Given the description of an element on the screen output the (x, y) to click on. 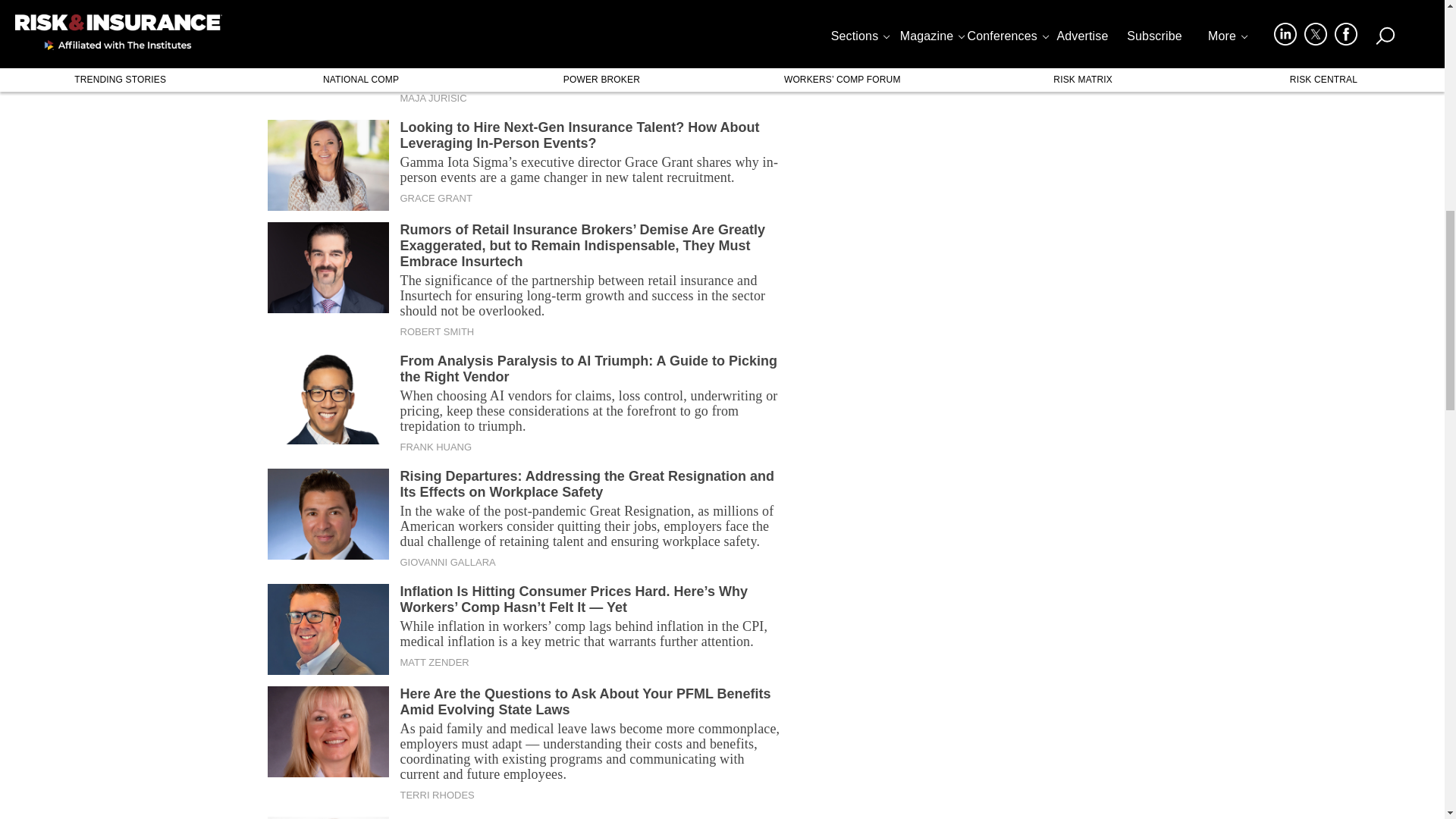
Posts by Maja Jurisic (433, 98)
Posts by Grace Grant (435, 198)
Posts by Terri Rhodes (437, 795)
Posts by Matt Zender (434, 662)
Posts by Giovanni Gallara (448, 562)
Posts by Frank Huang (435, 447)
Posts by Robert Smith (437, 331)
